Given the description of an element on the screen output the (x, y) to click on. 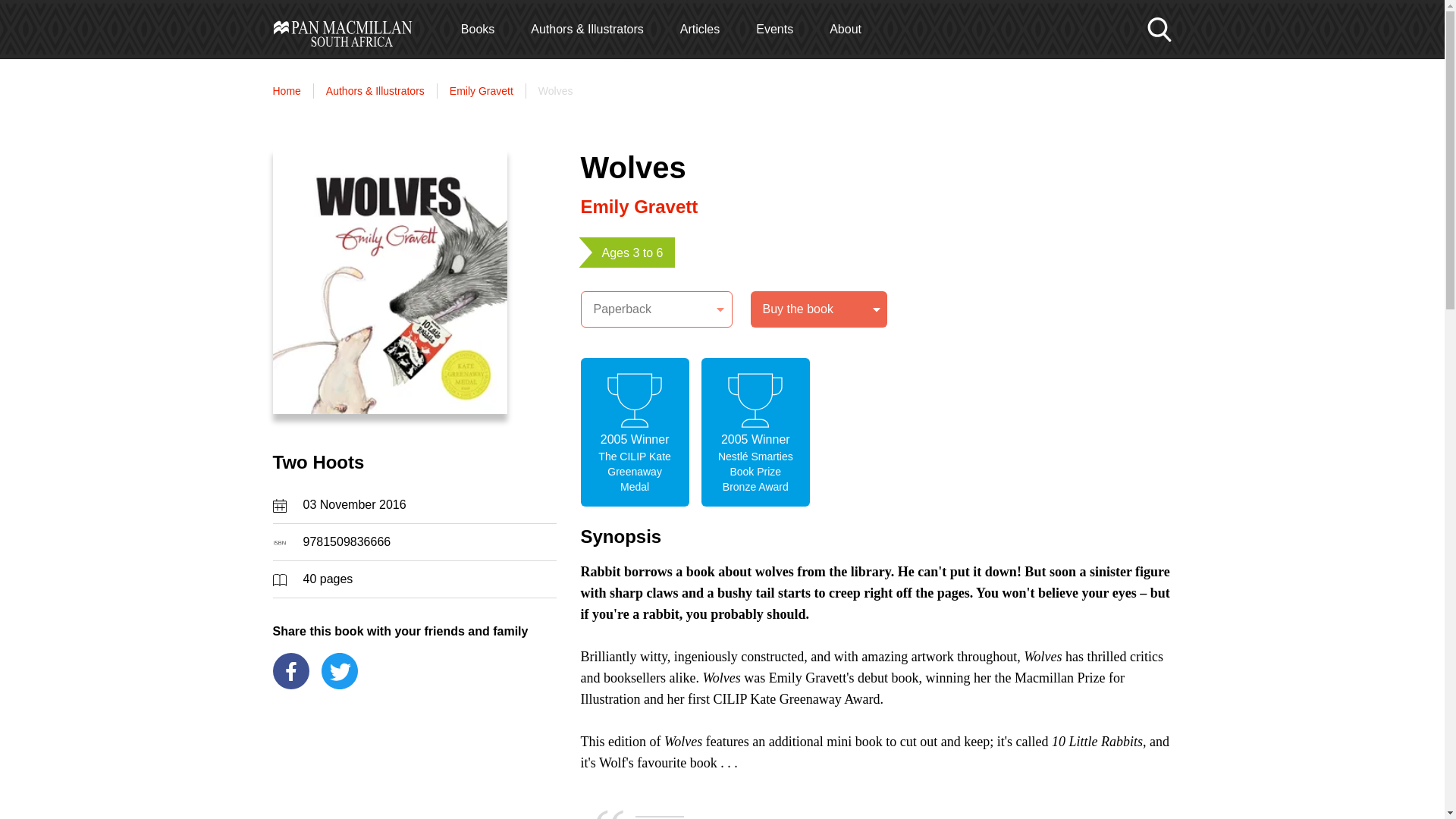
Books (478, 29)
